Given the description of an element on the screen output the (x, y) to click on. 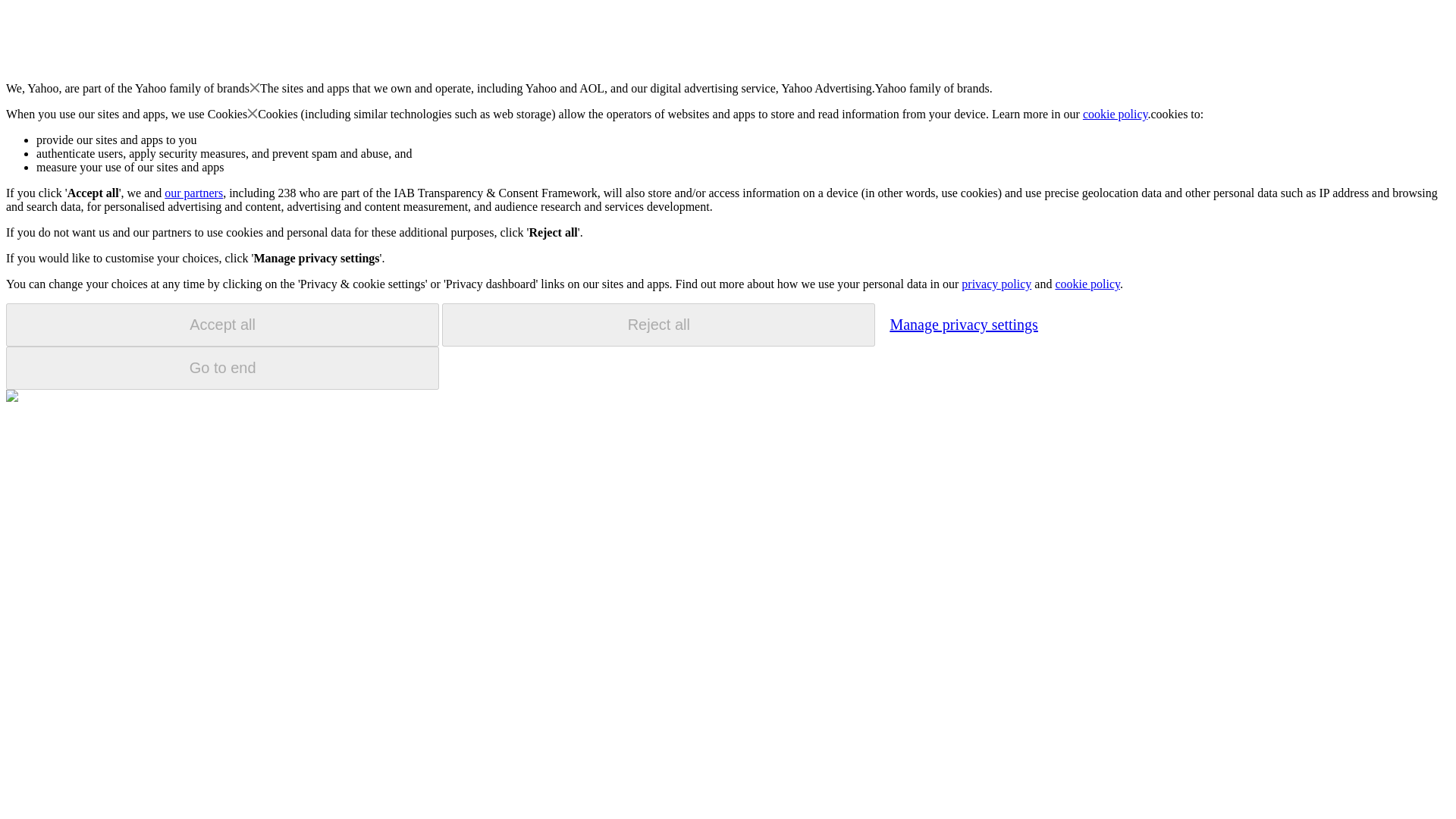
cookie policy (1115, 113)
Reject all (658, 324)
Manage privacy settings (963, 323)
Go to end (222, 367)
our partners (193, 192)
privacy policy (995, 283)
cookie policy (1086, 283)
Accept all (222, 324)
